Given the description of an element on the screen output the (x, y) to click on. 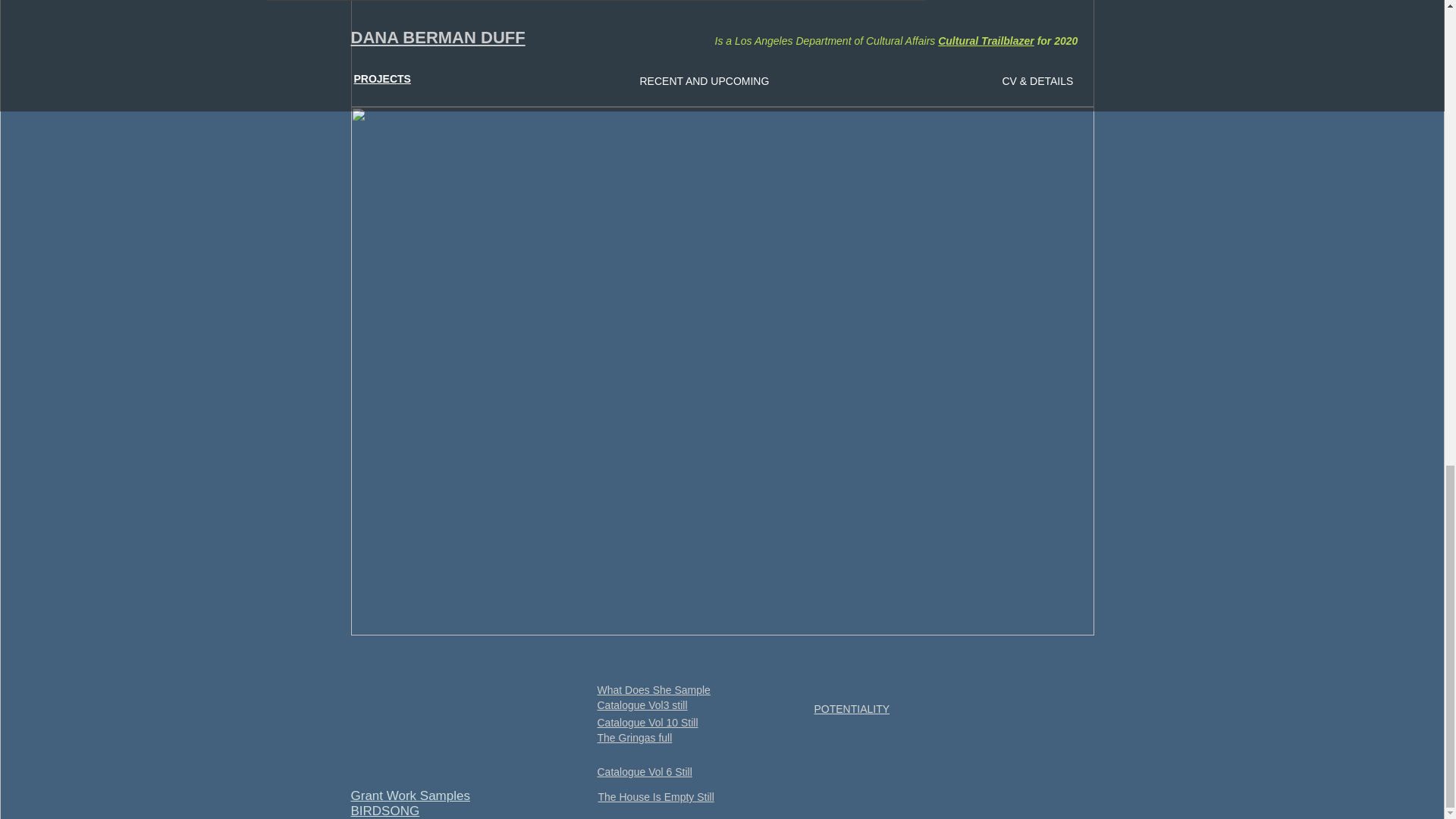
BIRDSONG (384, 810)
POTENTIALITY (851, 708)
What Does She Sample (653, 689)
Grant Work Samples (409, 795)
Catalogue Vol3 still (641, 705)
The House Is Empty Still (654, 797)
Catalogue Vol 6 Still (644, 771)
Catalogue Vol 10 Still (647, 722)
The Gringas full (634, 737)
